Given the description of an element on the screen output the (x, y) to click on. 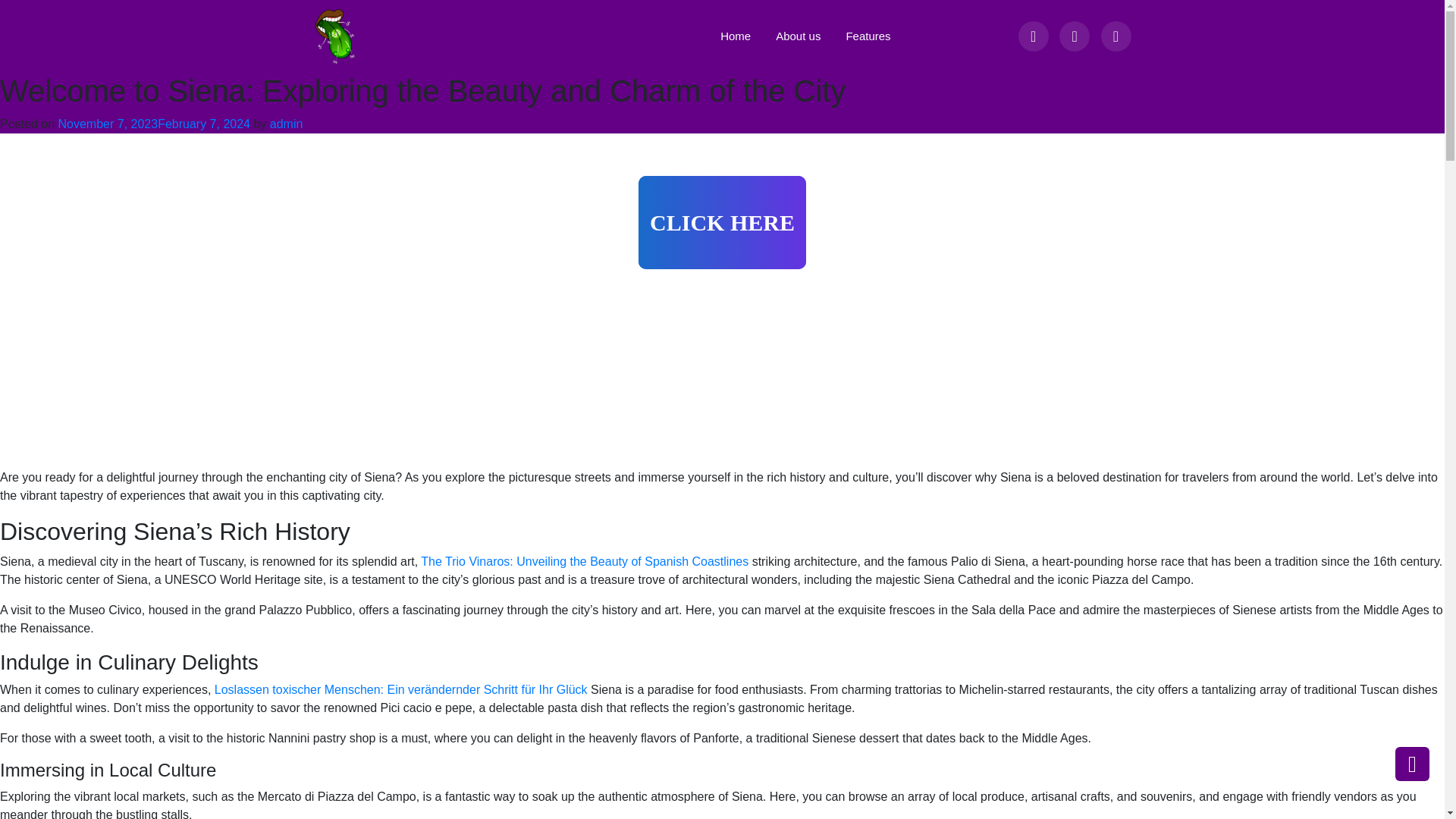
November 7, 2023February 7, 2024 (154, 123)
The Trio Vinaros: Unveiling the Beauty of Spanish Coastlines (584, 561)
Features (861, 36)
About us (792, 36)
CLICK HERE (722, 222)
admin (285, 123)
Home (729, 36)
